Given the description of an element on the screen output the (x, y) to click on. 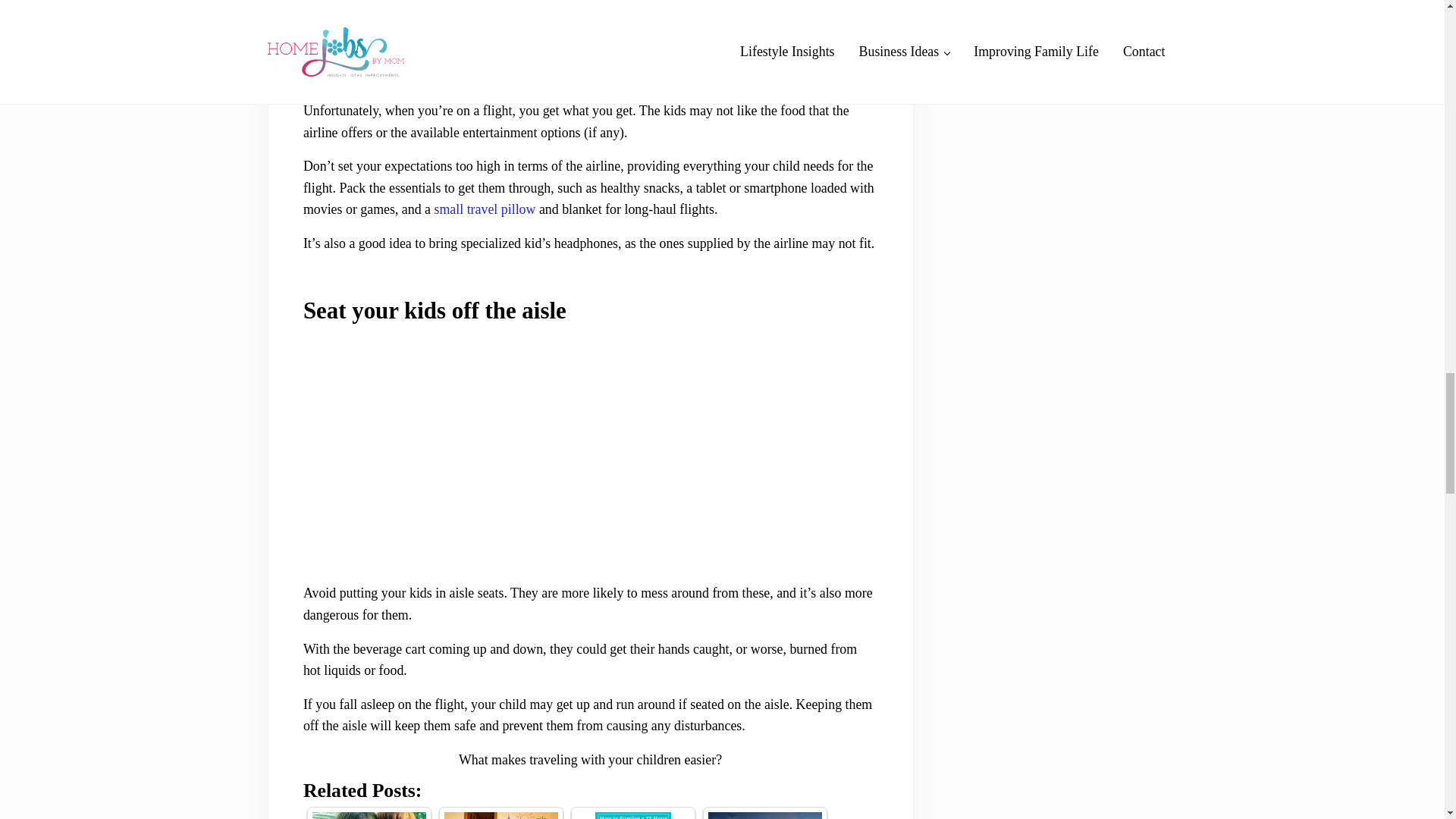
6 Places in Atlanta Your Kids Will Go Gaga Over (764, 815)
How to Survive a 12-Hour Flight During Covid-19 (633, 815)
4 Tips for Helping Children Cope with Stressful Life Changes (369, 815)
small travel pillow (484, 209)
4 Tips for Helping Children Cope with Stressful Life Changes (369, 815)
6 Places in Atlanta Your Kids Will Go Gaga Over (764, 815)
How to Survive a 12-Hour Flight During Covid-19 (633, 815)
